Given the description of an element on the screen output the (x, y) to click on. 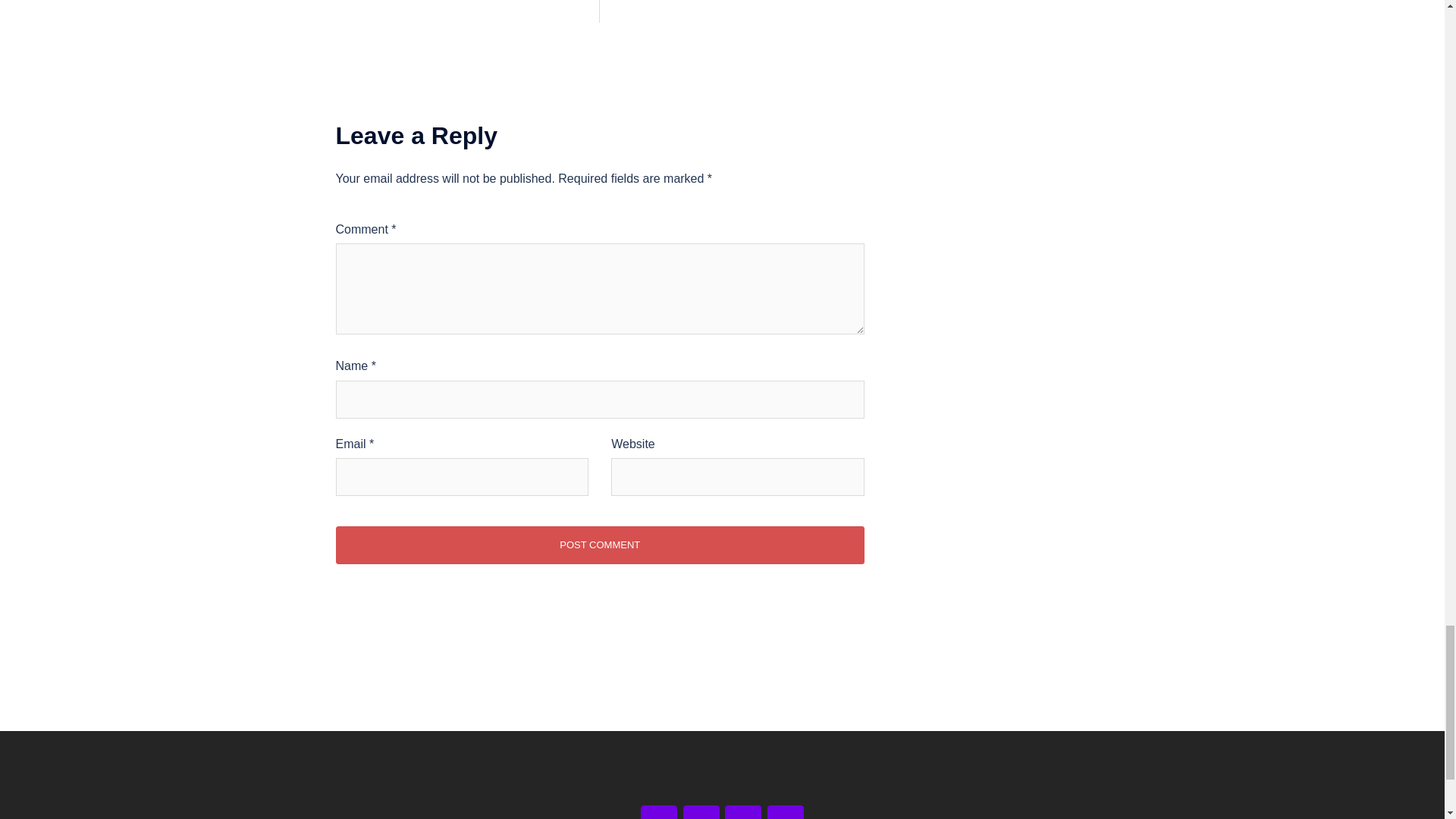
Post Comment (599, 545)
BackStageAccess on Linkedin (785, 812)
BackStageAccess on Google (743, 812)
Post Comment (599, 545)
BackStageAccess on Facebook (658, 812)
BackStageAccess on X Twitter (700, 812)
